Given the description of an element on the screen output the (x, y) to click on. 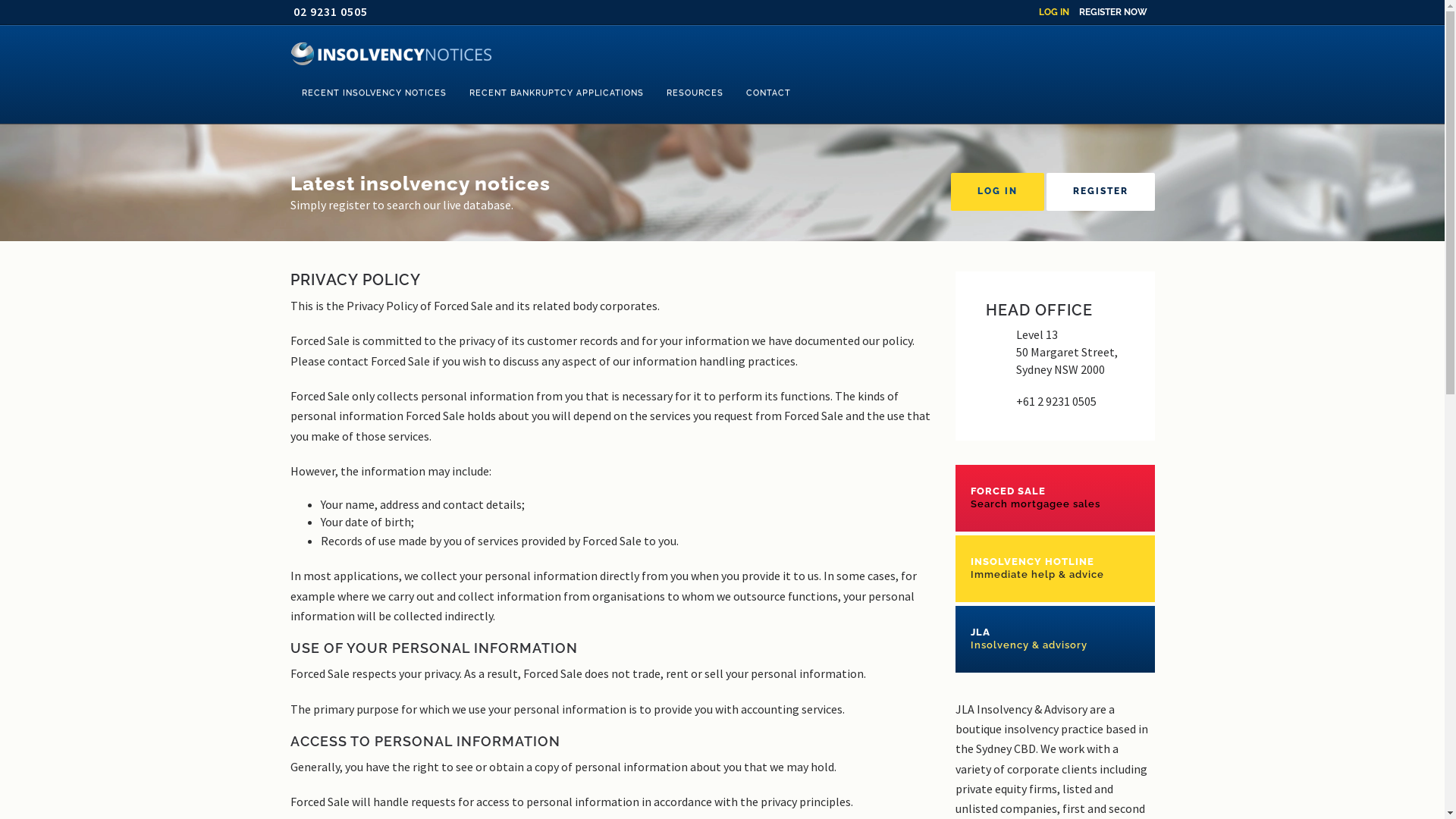
RESOURCES Element type: text (694, 92)
CONTACT Element type: text (767, 92)
REGISTER Element type: text (1100, 191)
LOG IN Element type: text (997, 191)
INSOLVENCY HOTLINE  
Immediate help & advice Element type: text (1054, 568)
LOG IN Element type: text (1053, 11)
JLA  
Insolvency & advisory Element type: text (1054, 638)
REGISTER NOW Element type: text (1112, 11)
RECENT INSOLVENCY NOTICES Element type: text (373, 92)
RECENT BANKRUPTCY APPLICATIONS Element type: text (556, 92)
FORCED SALE  
Search mortgagee sales Element type: text (1054, 497)
